Given the description of an element on the screen output the (x, y) to click on. 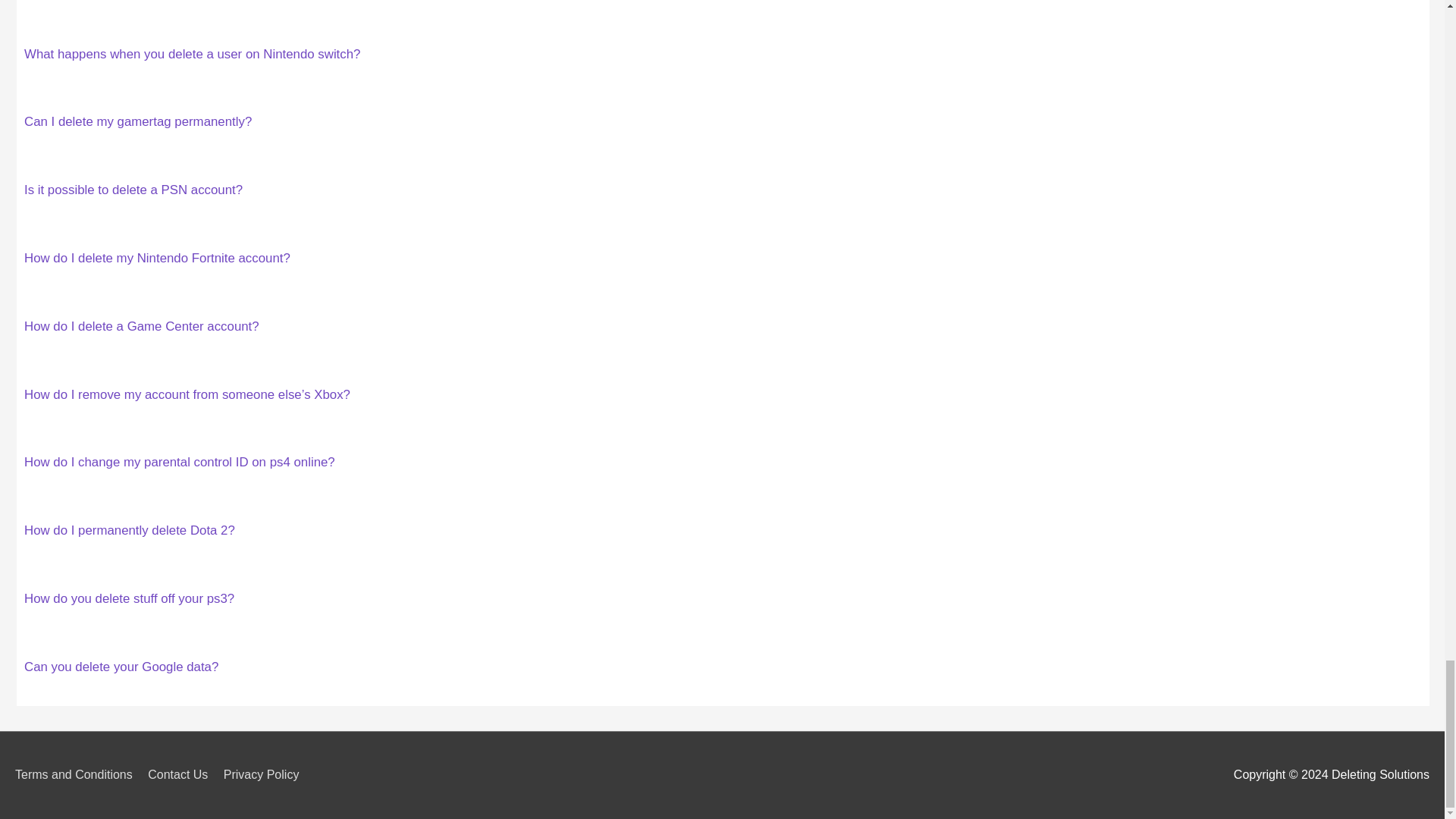
Can you delete your Google data? (121, 667)
What happens when you delete a user on Nintendo switch? (191, 53)
How do I change my parental control ID on ps4 online? (179, 462)
How do I delete my Nintendo Fortnite account? (156, 257)
Is it possible to delete a PSN account? (133, 189)
How do I permanently delete Dota 2? (129, 530)
Terms and Conditions (79, 774)
How do you delete stuff off your ps3? (129, 598)
How do I delete a Game Center account? (141, 326)
Can I delete my gamertag permanently? (137, 121)
